Given the description of an element on the screen output the (x, y) to click on. 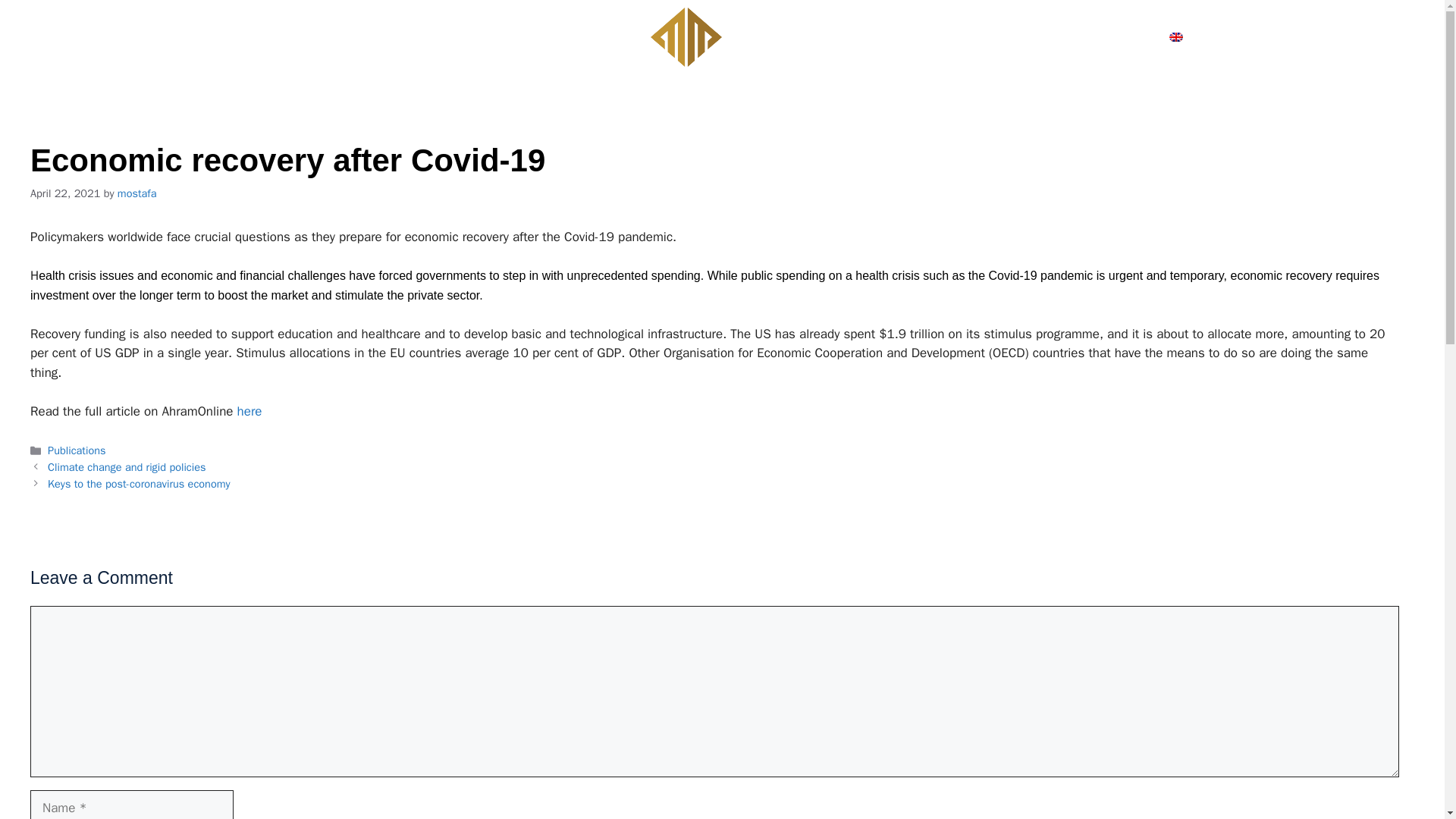
Media Archive (958, 36)
Initiatives (1052, 36)
English (1195, 36)
View all posts by mostafa (137, 192)
Biography (252, 36)
Publications (403, 36)
Contact (325, 36)
Search (1401, 37)
Home Page (171, 36)
Events (1122, 36)
English (1195, 36)
